Given the description of an element on the screen output the (x, y) to click on. 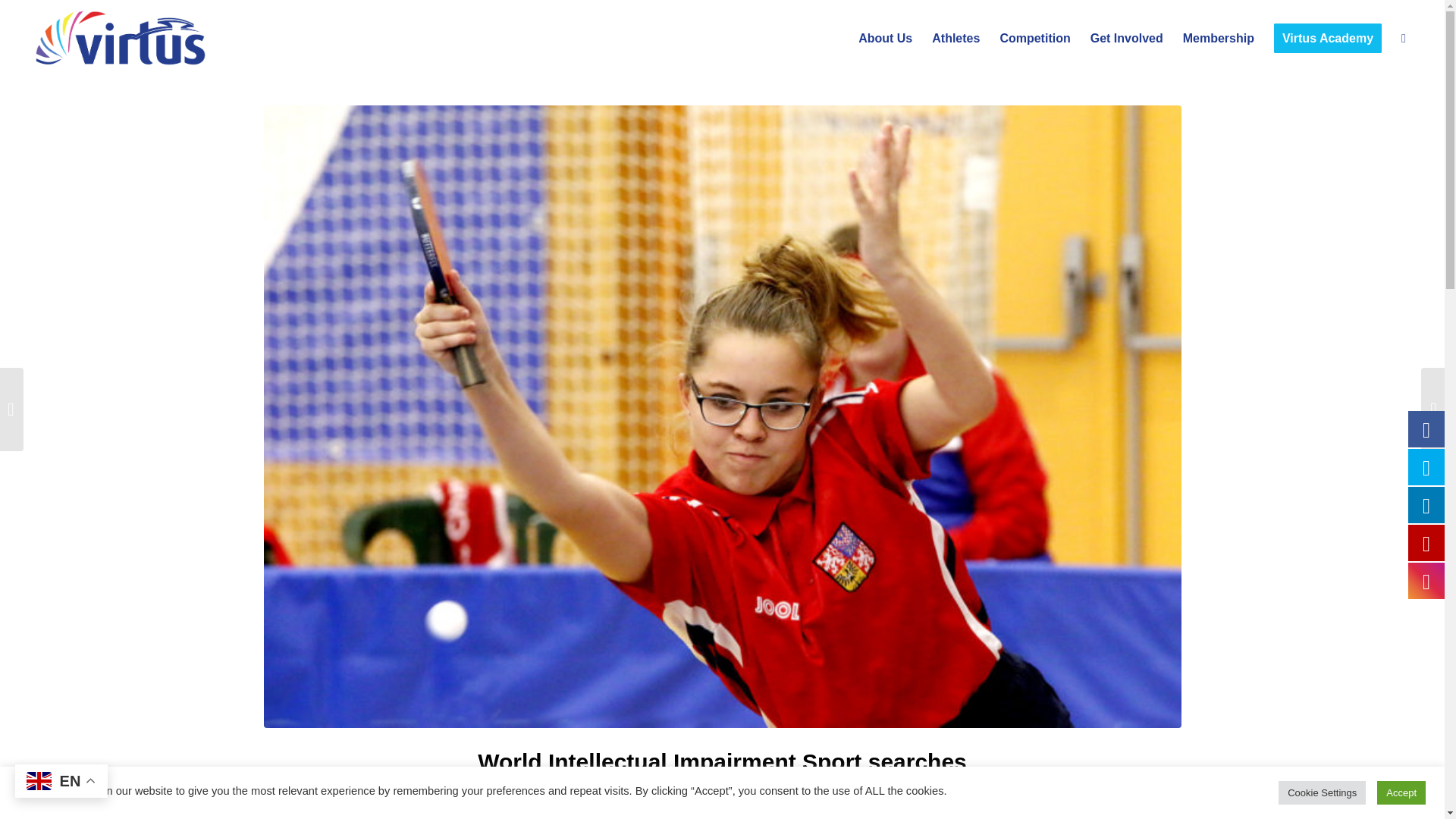
Membership (1218, 38)
Get Involved (1126, 38)
About Us (884, 38)
Virtus Academy (1327, 38)
Athletes (955, 38)
Competition (1035, 38)
